Given the description of an element on the screen output the (x, y) to click on. 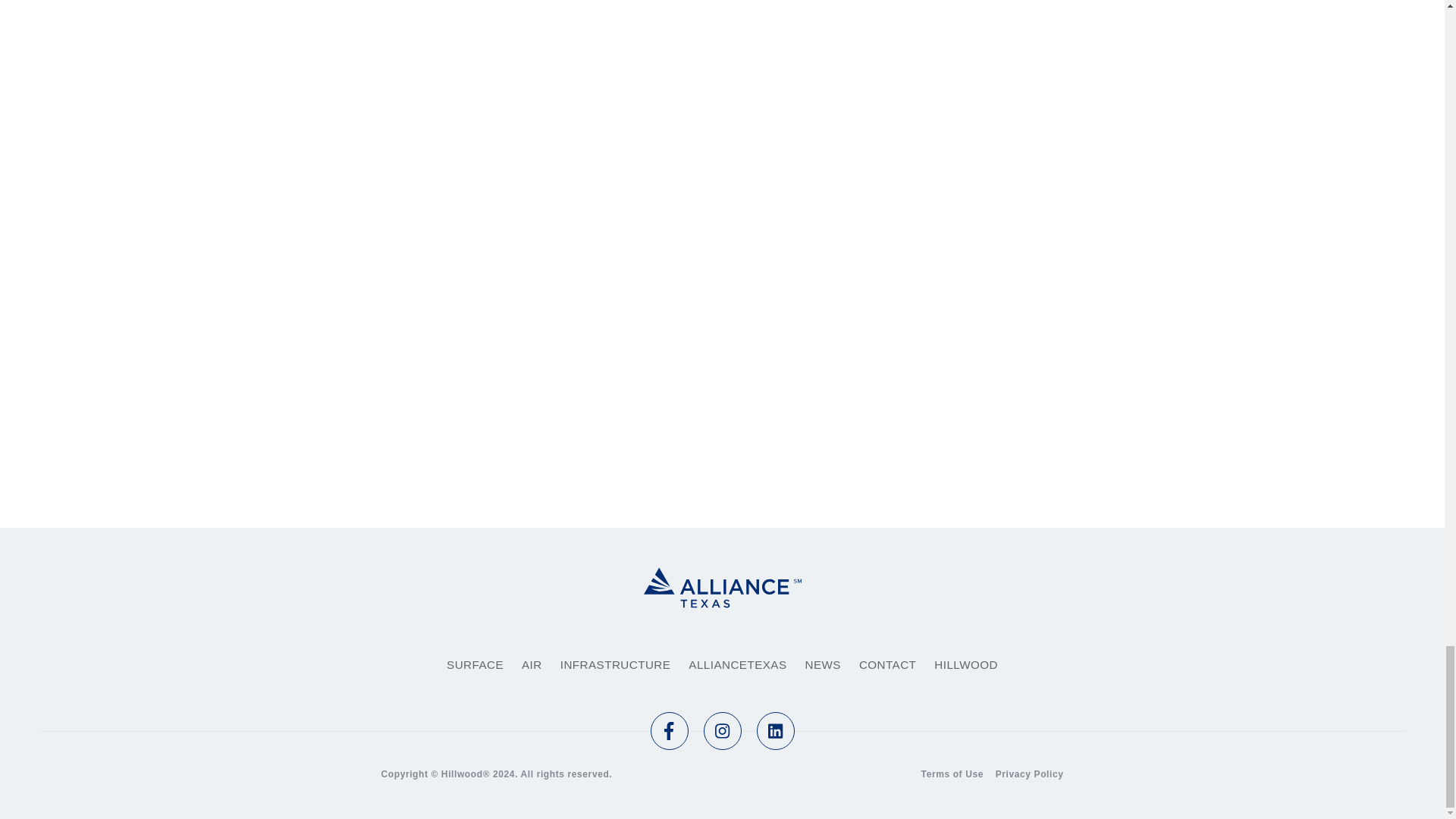
AIR (531, 664)
CONTACT (887, 664)
Privacy Policy (1029, 774)
INFRASTRUCTURE (615, 664)
NEWS (823, 664)
HILLWOOD (965, 664)
SURFACE (474, 664)
Terms of Use (952, 774)
ALLIANCETEXAS (737, 664)
